Given the description of an element on the screen output the (x, y) to click on. 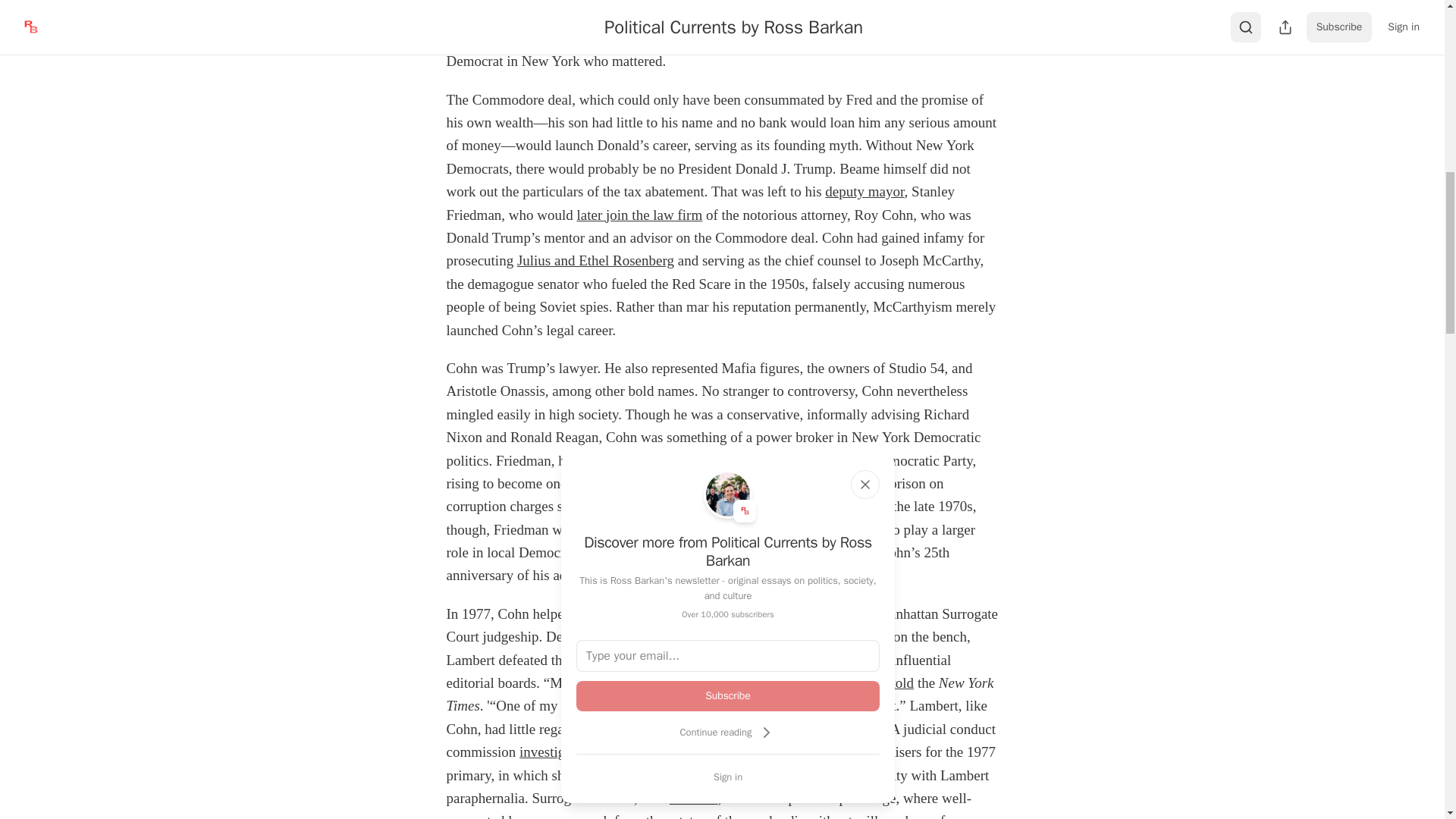
investigated (554, 751)
Julius and Ethel Rosenberg (595, 260)
Madison Democratic Club (662, 37)
later join the law firm (639, 214)
Sign in (727, 776)
and now (693, 797)
deputy mayor (864, 191)
Subscribe (727, 695)
told (902, 682)
